Given the description of an element on the screen output the (x, y) to click on. 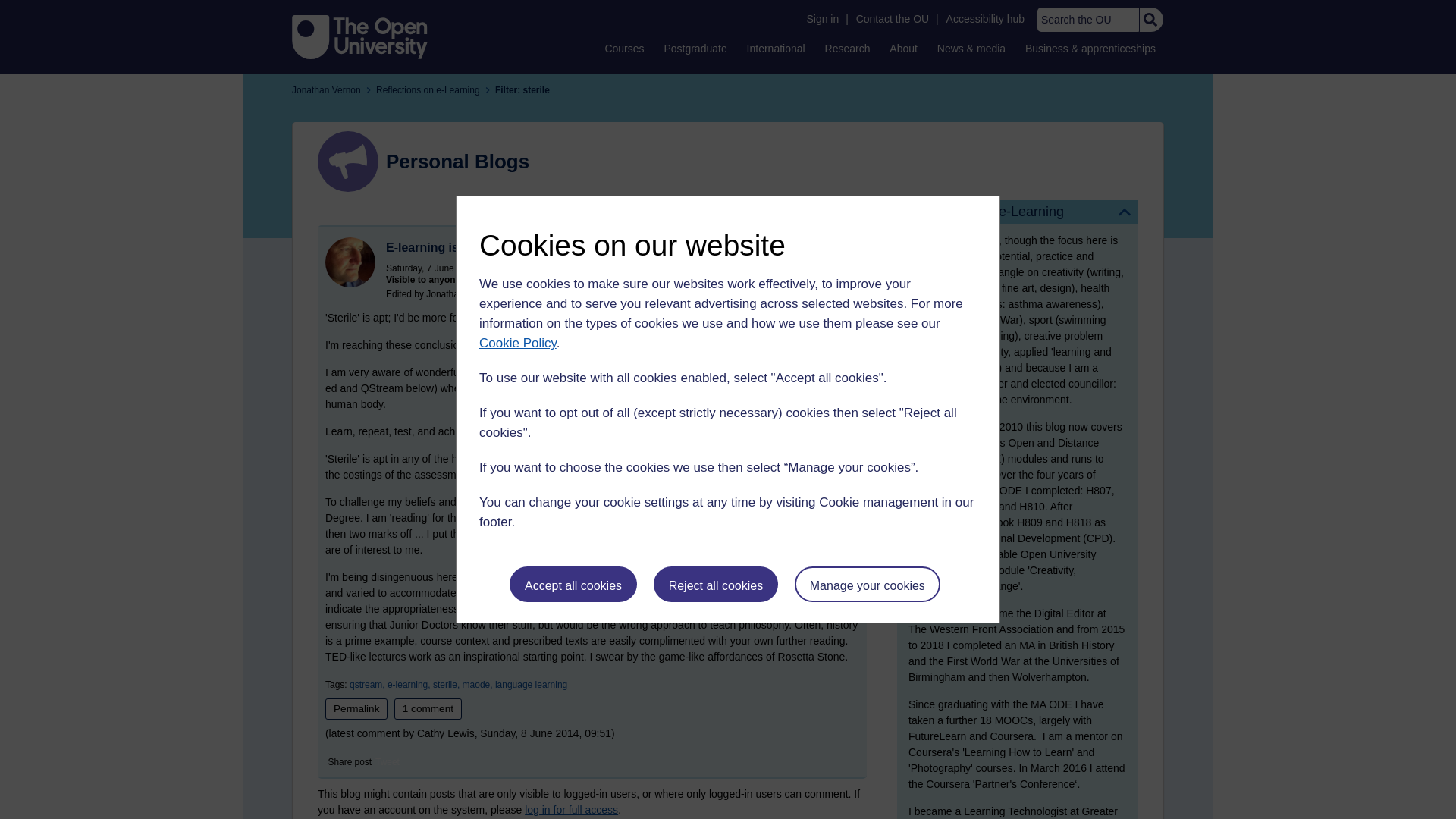
Accessibility hub (985, 19)
Postgraduate (695, 48)
Research (847, 48)
Reflections on e-Learning (1017, 211)
Reject all cookies (715, 583)
The Open University (360, 36)
Accept all cookies (573, 583)
Manage your cookies (867, 583)
International (775, 48)
Search (1149, 19)
Sign in (822, 19)
Contact the OU (892, 19)
About (903, 48)
Search (1149, 19)
